Given the description of an element on the screen output the (x, y) to click on. 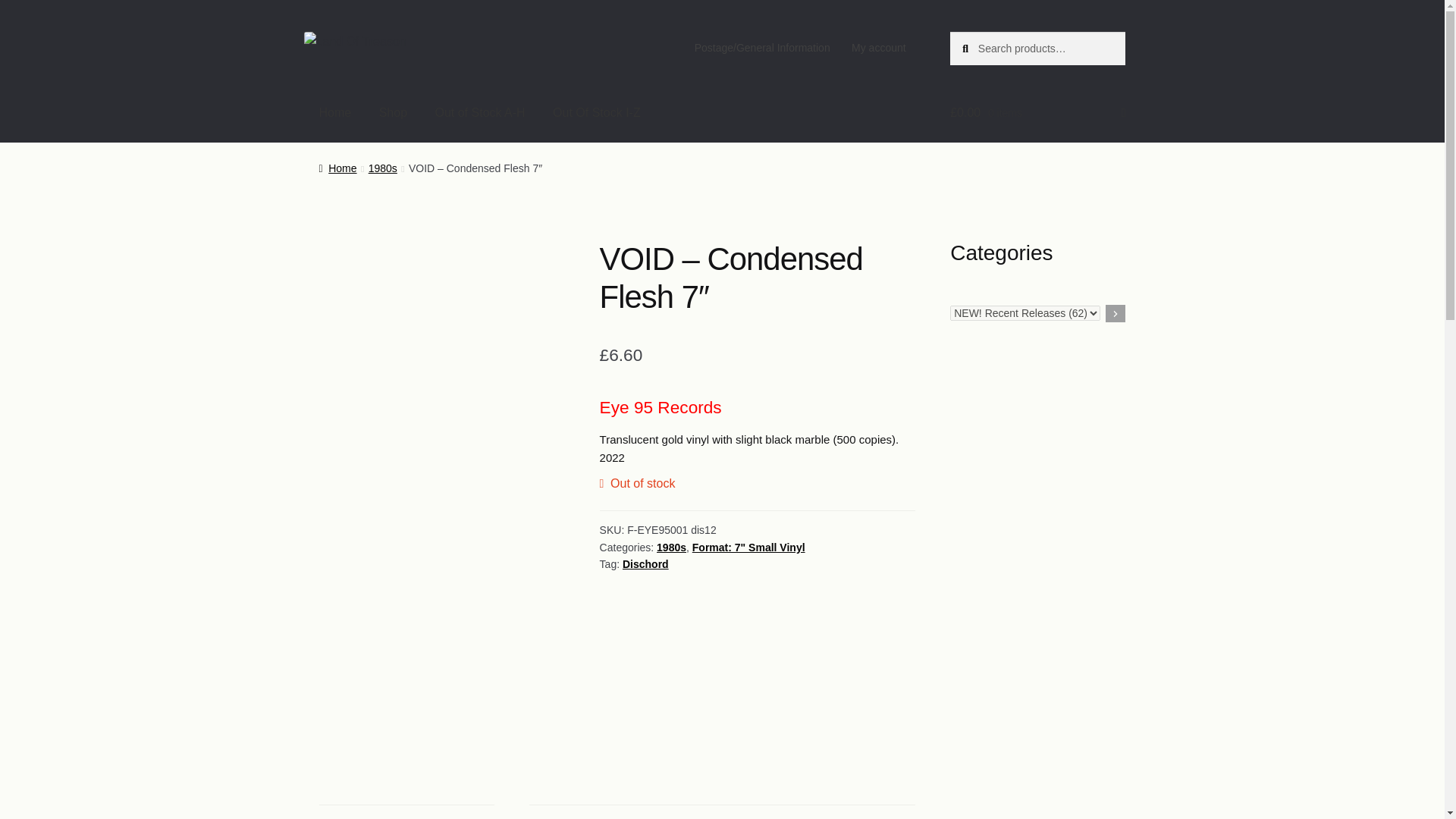
1980s (670, 547)
Home (335, 112)
My account (879, 47)
Dischord (645, 563)
Shop (392, 112)
View your shopping basket (1037, 112)
Home (337, 168)
Out Of Stock I-Z (596, 112)
Out of Stock A-H (479, 112)
Description (406, 812)
Land Of Treason (391, 41)
1980s (382, 168)
Format: 7" Small Vinyl (749, 547)
